Given the description of an element on the screen output the (x, y) to click on. 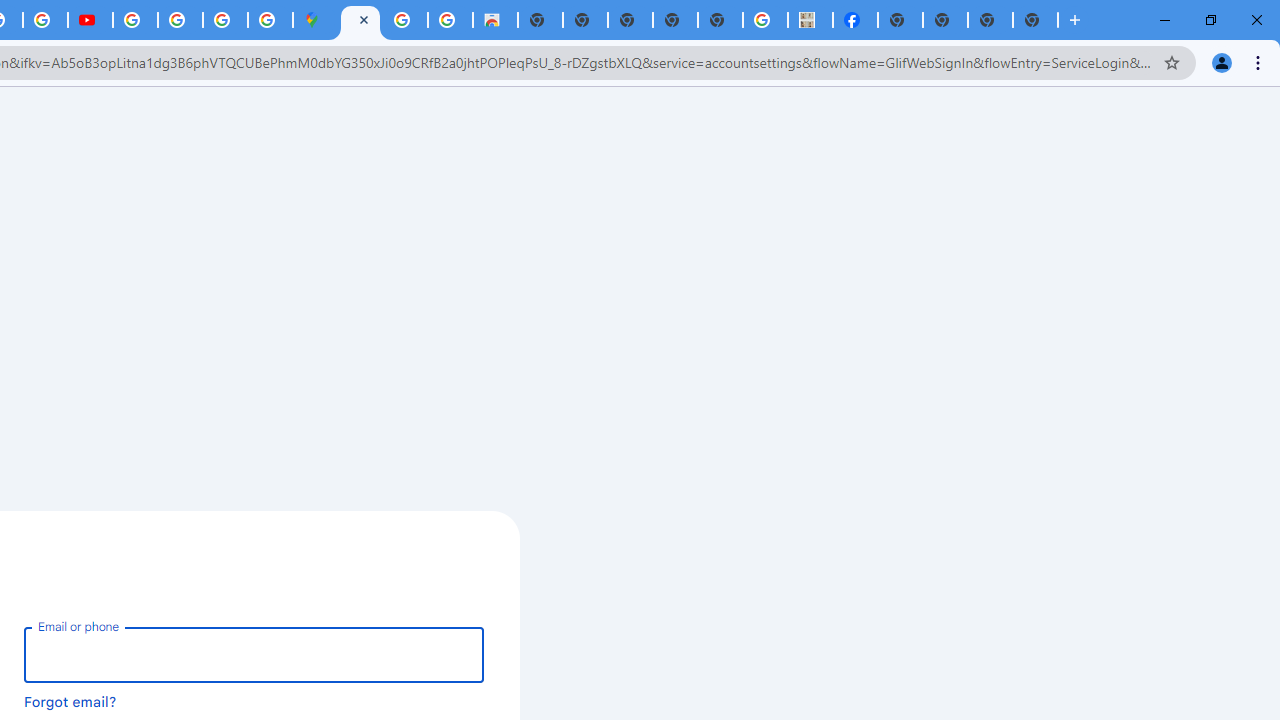
Sign in - Google Accounts (359, 20)
Bookmark this tab (1171, 62)
New Tab (900, 20)
Email or phone (253, 654)
New Tab (1075, 20)
Chrome (1260, 62)
Miley Cyrus | Facebook (855, 20)
Subscriptions - YouTube (89, 20)
Google Maps (315, 20)
Forgot email? (70, 701)
Chrome Web Store - Shopping (495, 20)
New Tab (1035, 20)
